Given the description of an element on the screen output the (x, y) to click on. 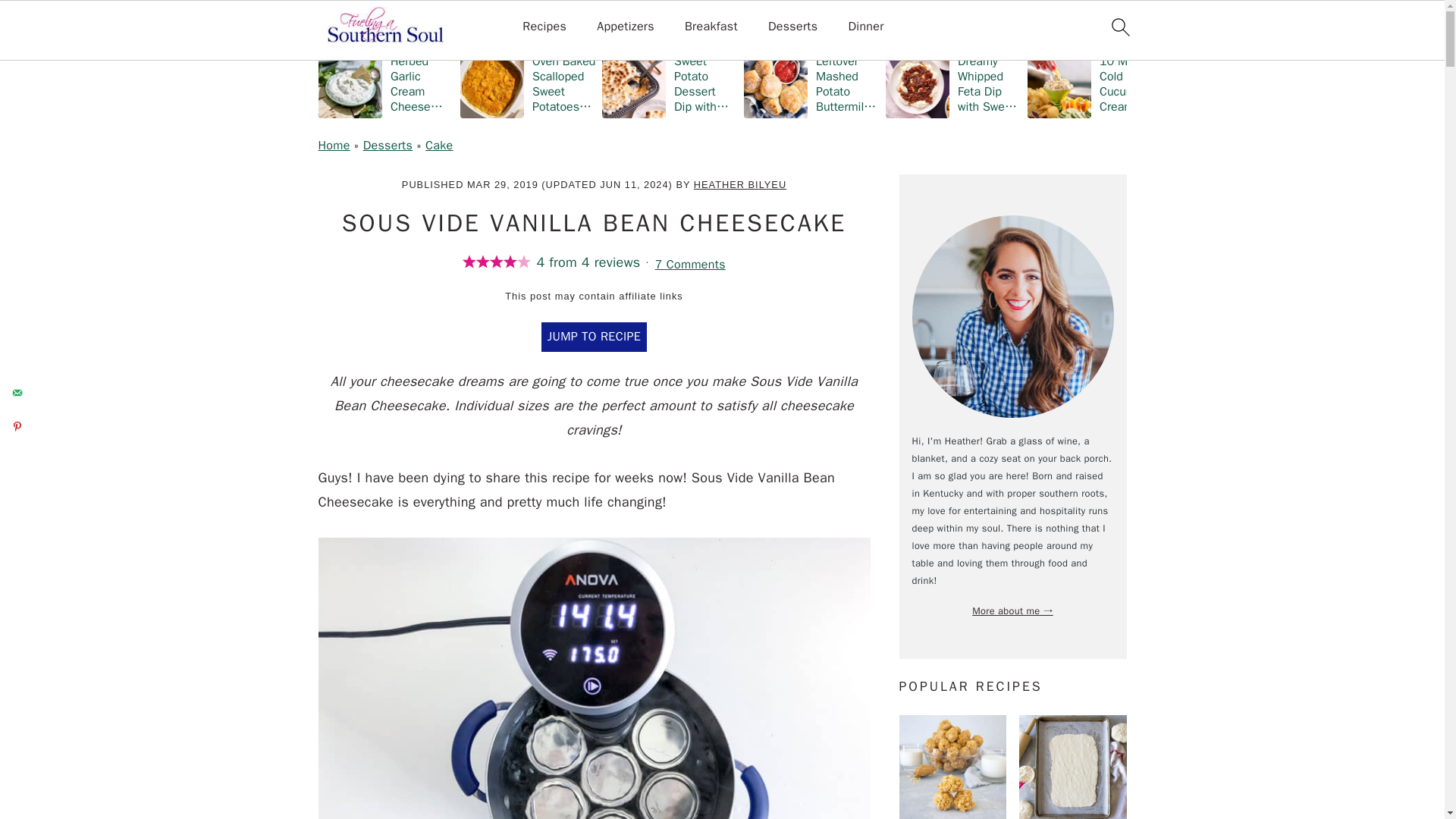
Appetizers (624, 26)
Recipes (544, 26)
Desserts (793, 26)
Dreamy Whipped Feta Dip with Sweet Bacon Jam (953, 83)
search icon (1119, 26)
4 from 4 reviews (559, 262)
Dinner (865, 26)
Send over email (16, 392)
Oven Baked Scalloped Sweet Potatoes with Heavy Cream (527, 83)
